Given the description of an element on the screen output the (x, y) to click on. 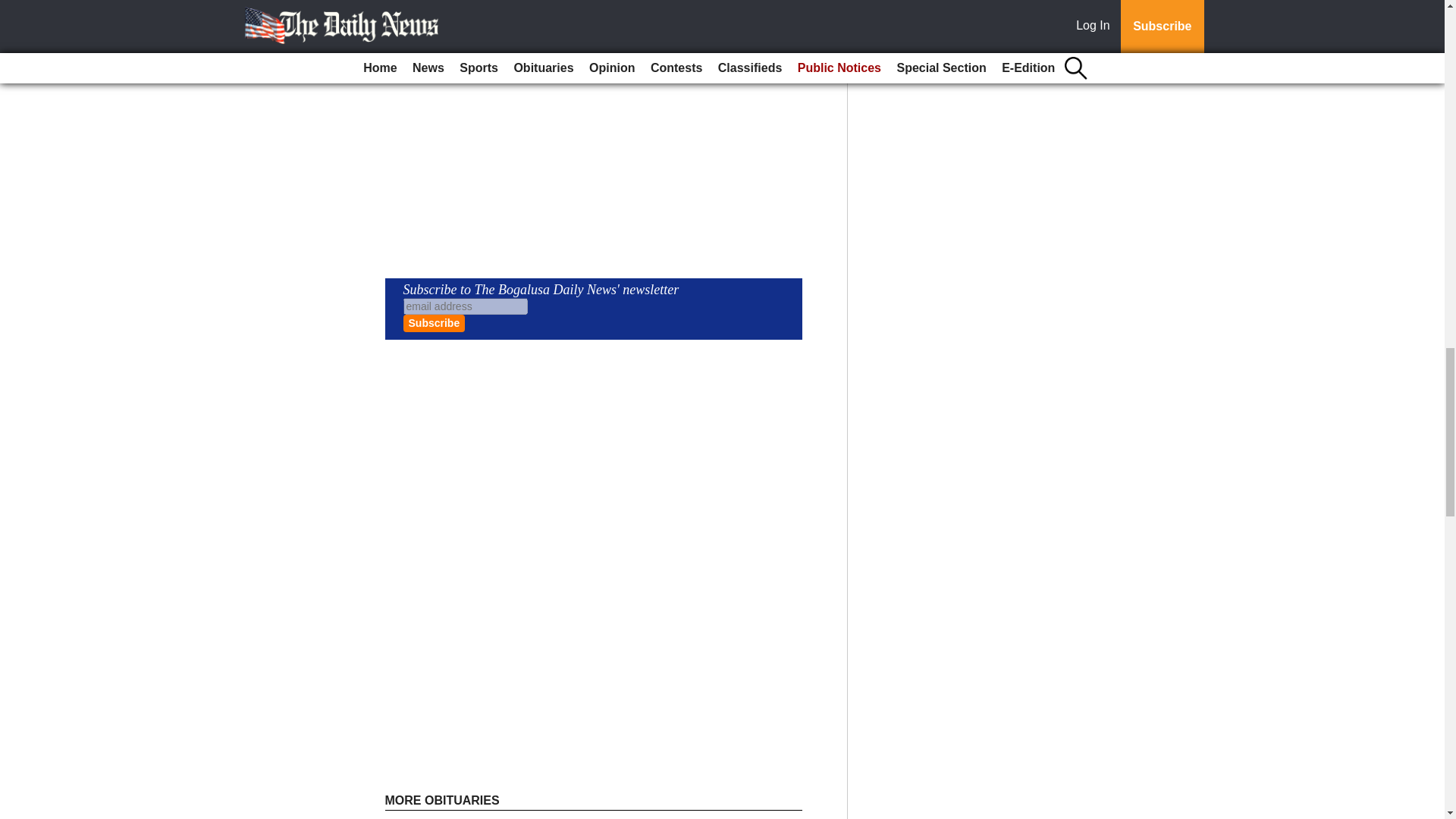
Subscribe (434, 323)
Subscribe (434, 323)
